Given the description of an element on the screen output the (x, y) to click on. 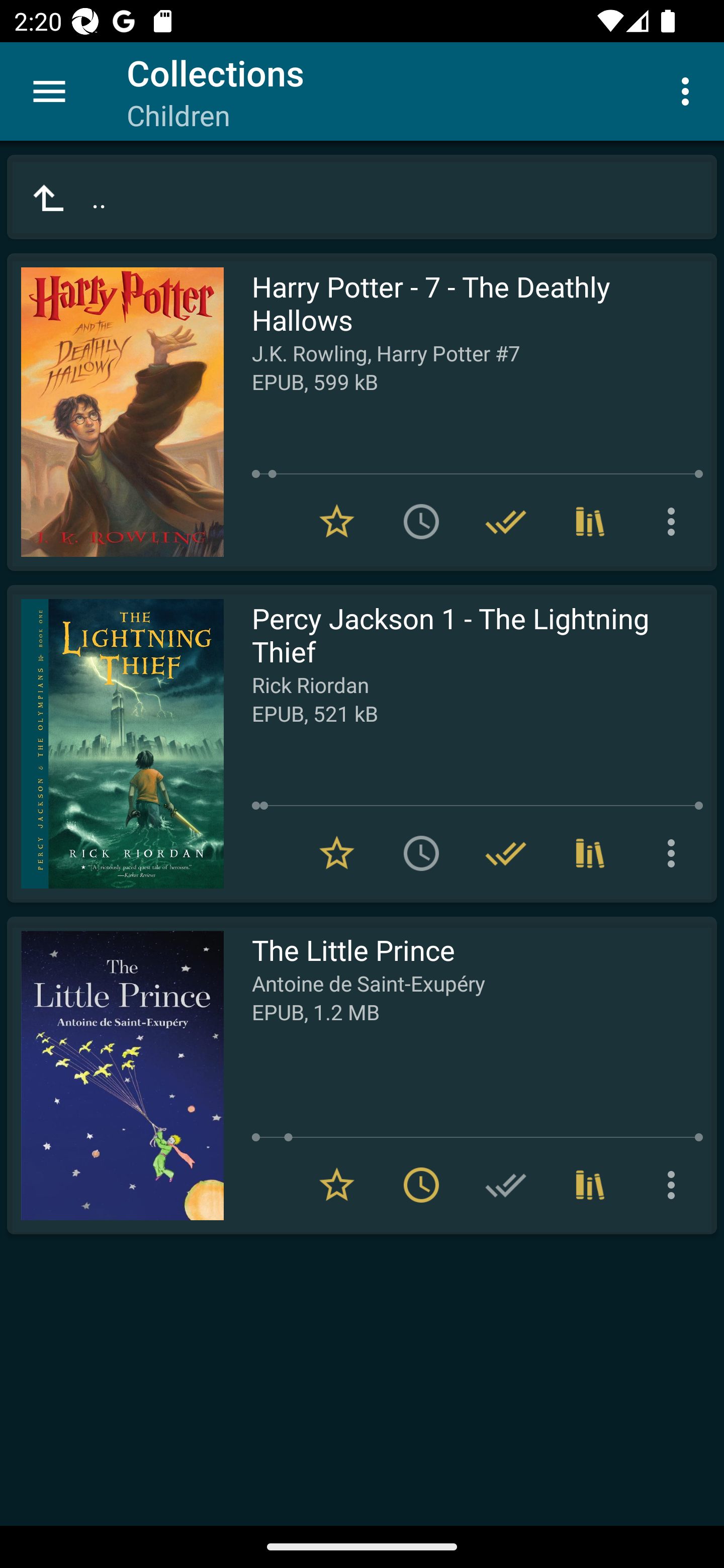
Menu (49, 91)
More options (688, 90)
.. (361, 197)
Read Harry Potter - 7 - The Deathly Hallows (115, 412)
Remove from Favorites (336, 521)
Add to To read (421, 521)
Remove from Have read (505, 521)
Collections (3) (590, 521)
More options (674, 521)
Read Percy Jackson 1 - The Lightning Thief (115, 743)
Remove from Favorites (336, 852)
Add to To read (421, 852)
Remove from Have read (505, 852)
Collections (1) (590, 852)
More options (674, 852)
Read The Little Prince (115, 1075)
Remove from Favorites (336, 1185)
Remove from To read (421, 1185)
Add to Have read (505, 1185)
Collections (1) (590, 1185)
More options (674, 1185)
